Given the description of an element on the screen output the (x, y) to click on. 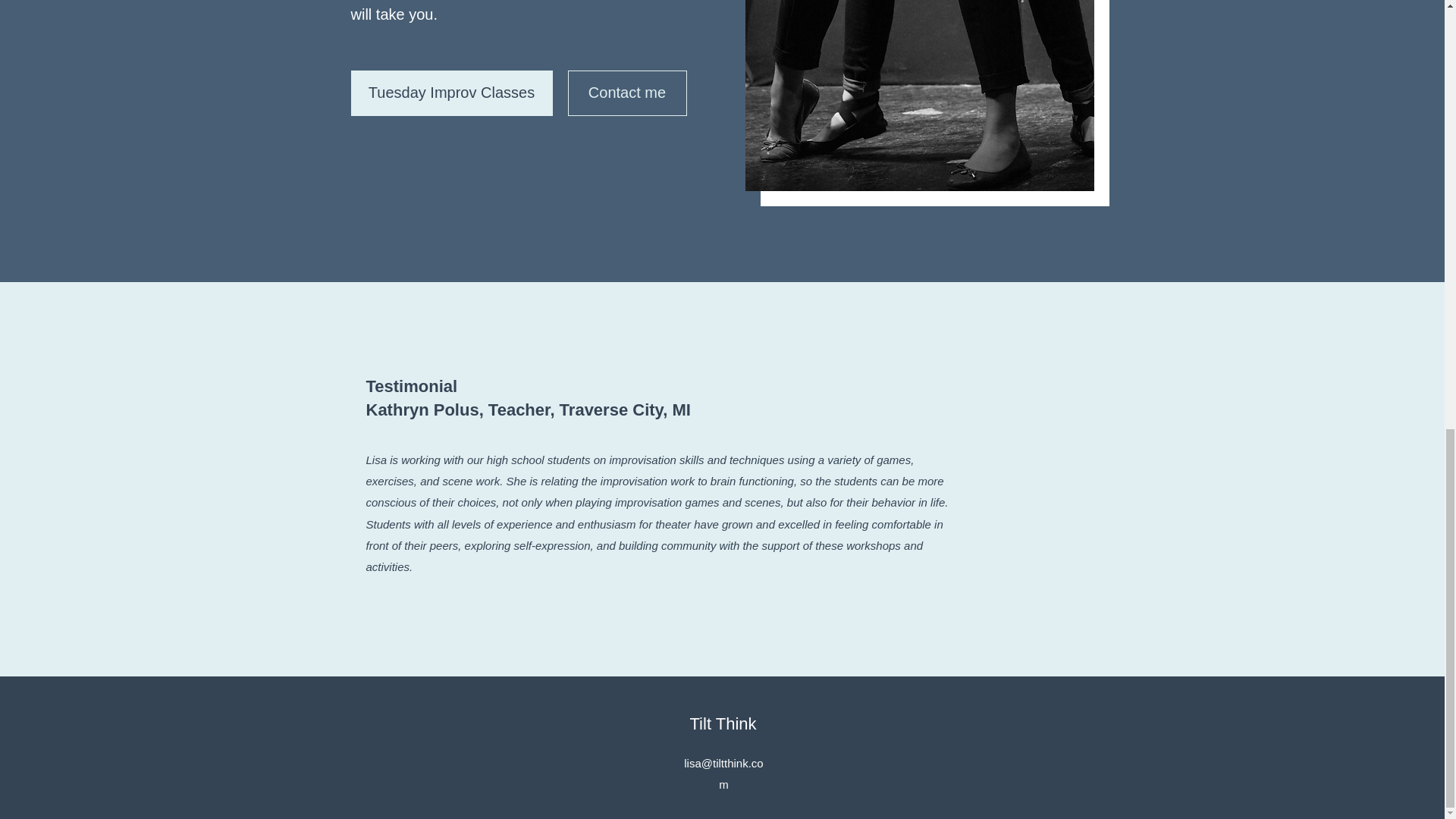
Contact me (626, 93)
Tuesday Improv Classes (450, 93)
Tilt Think (721, 723)
